Given the description of an element on the screen output the (x, y) to click on. 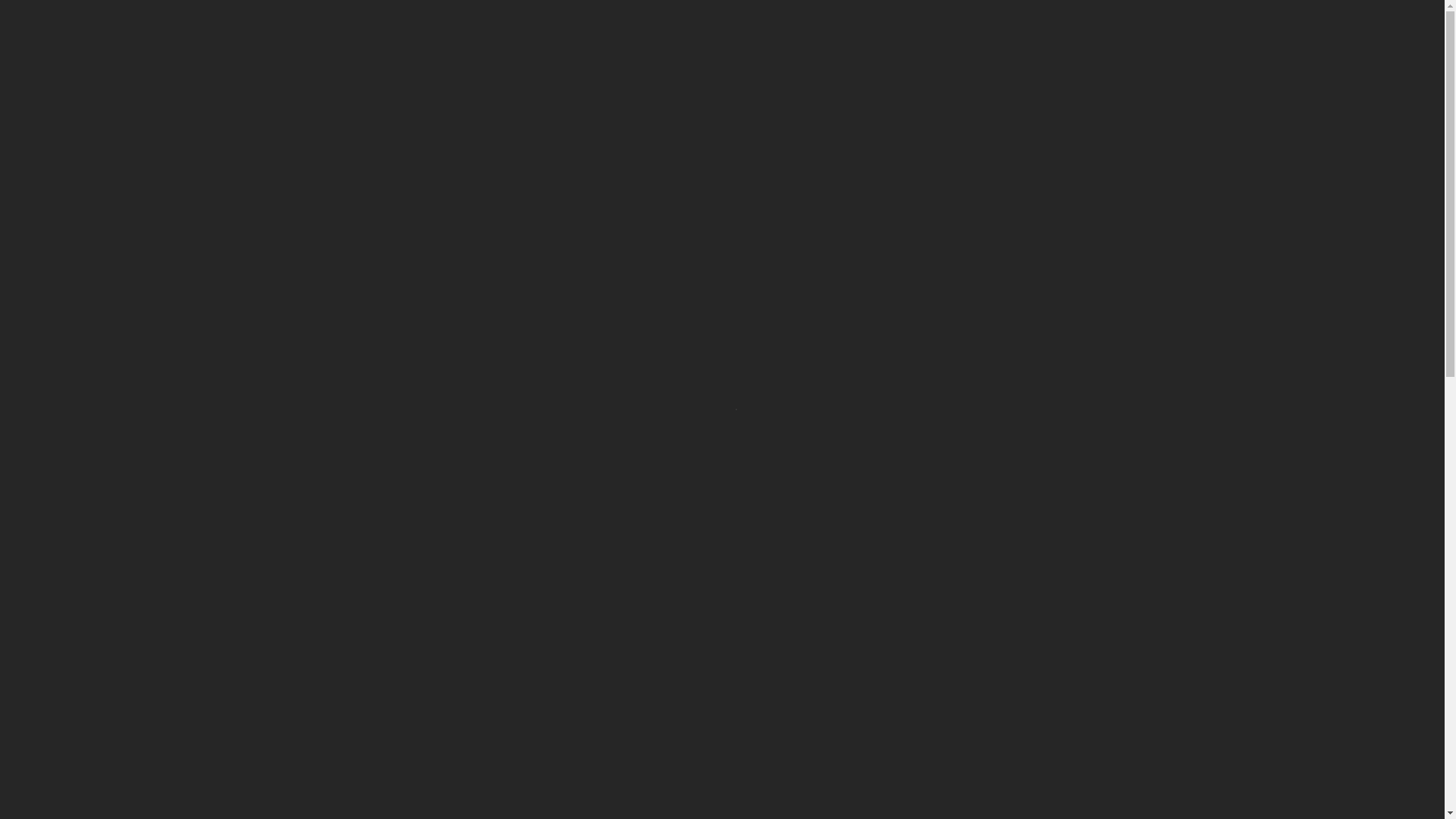
Cookie settings Element type: text (609, 449)
IRIS Simulations - Aviate, Navigate, Communicate! Element type: hover (396, 90)
CONTACT US Element type: text (1063, 15)
TERMS & CONDITIONS Element type: text (1029, 90)
CHECKOUT Element type: text (705, 90)
CART Element type: text (644, 90)
MANUALS Element type: text (865, 90)
PRIVACY Element type: text (933, 90)
Youtube Element type: hover (1131, 90)
Facebook Element type: hover (1105, 90)
Go to Home Page Element type: hover (306, 174)
Privacy Policy Element type: text (697, 449)
DOWNLOADS Element type: text (787, 90)
ACCEPT Element type: text (763, 449)
MY ACCOUNT Element type: text (576, 90)
